Given the description of an element on the screen output the (x, y) to click on. 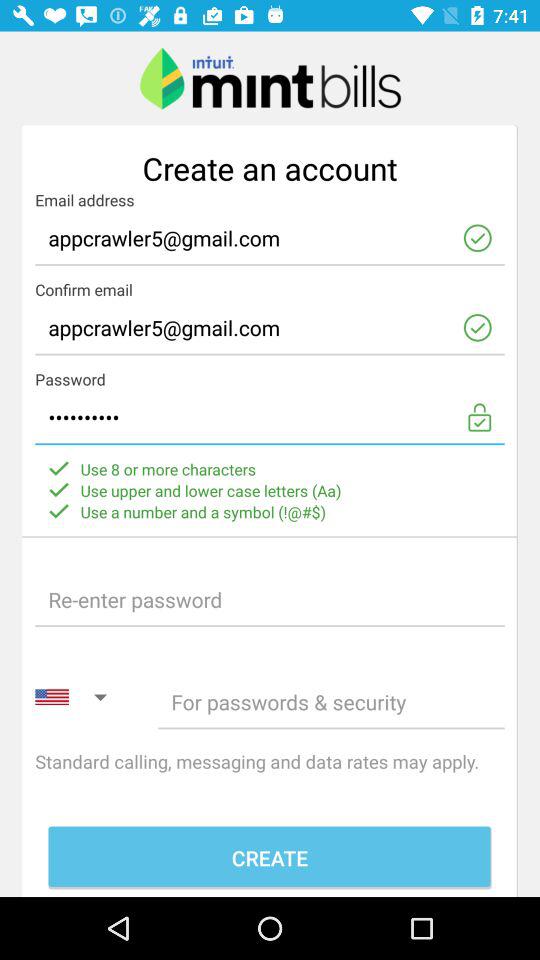
re-enter the password (269, 599)
